Given the description of an element on the screen output the (x, y) to click on. 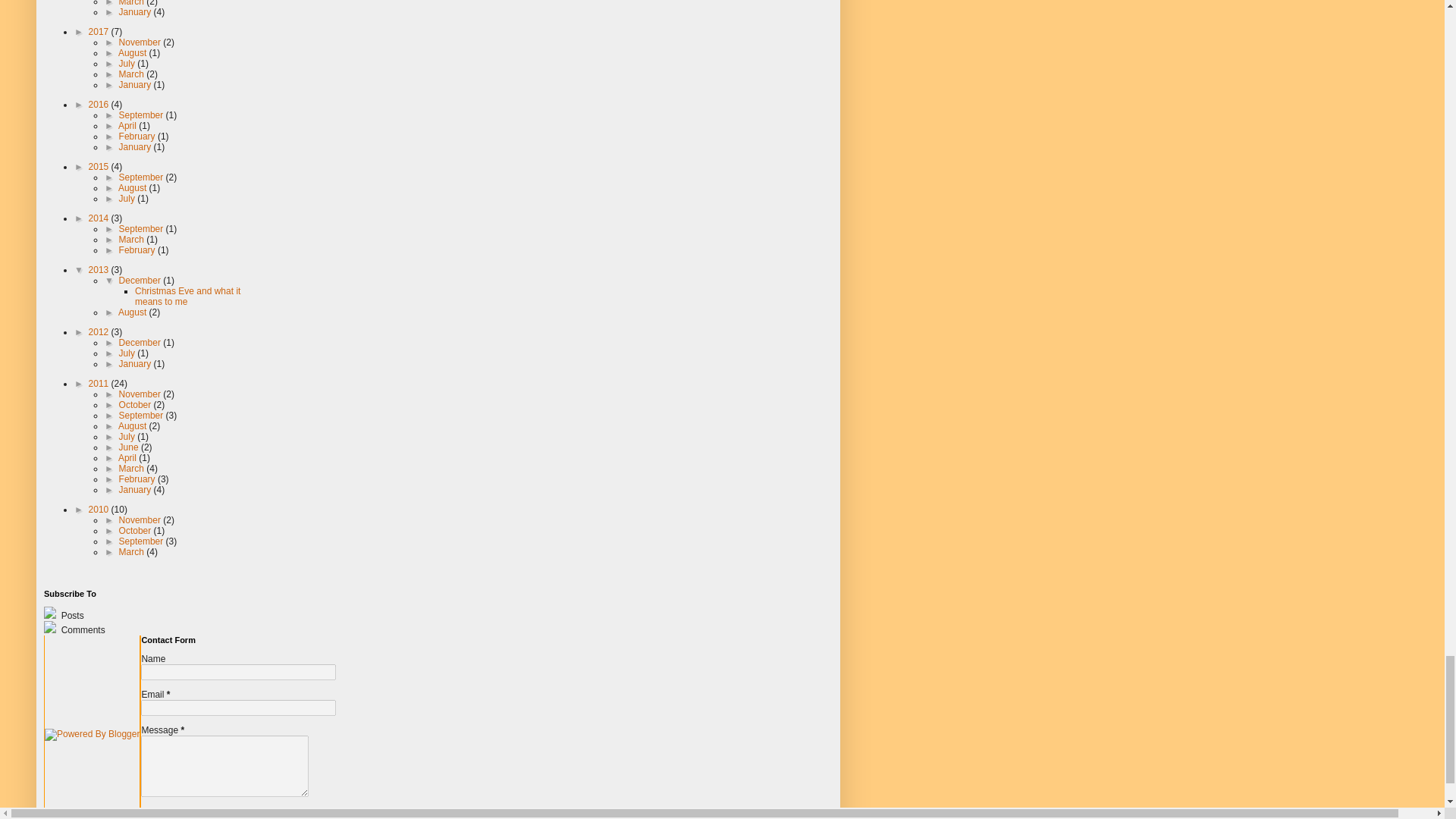
Send (158, 813)
